Given the description of an element on the screen output the (x, y) to click on. 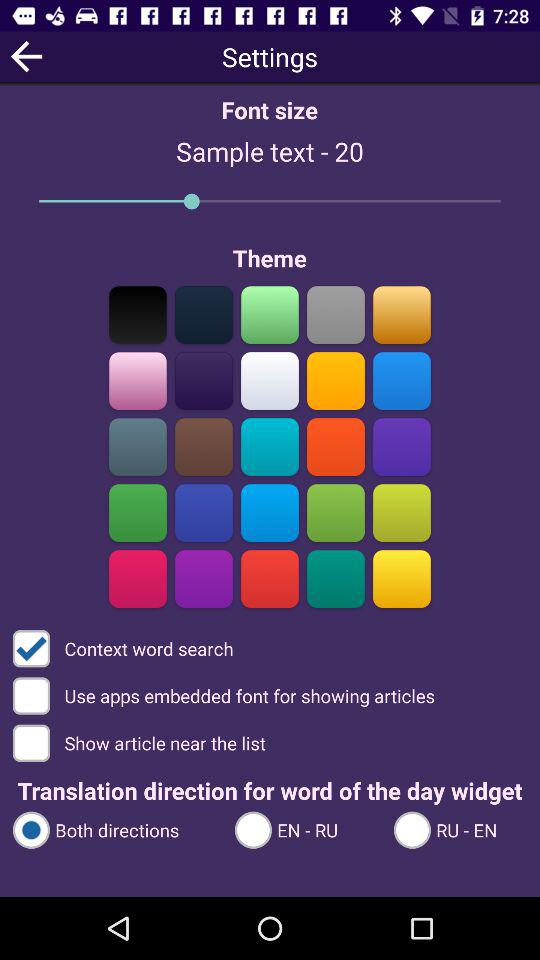
pick this theme (203, 446)
